Given the description of an element on the screen output the (x, y) to click on. 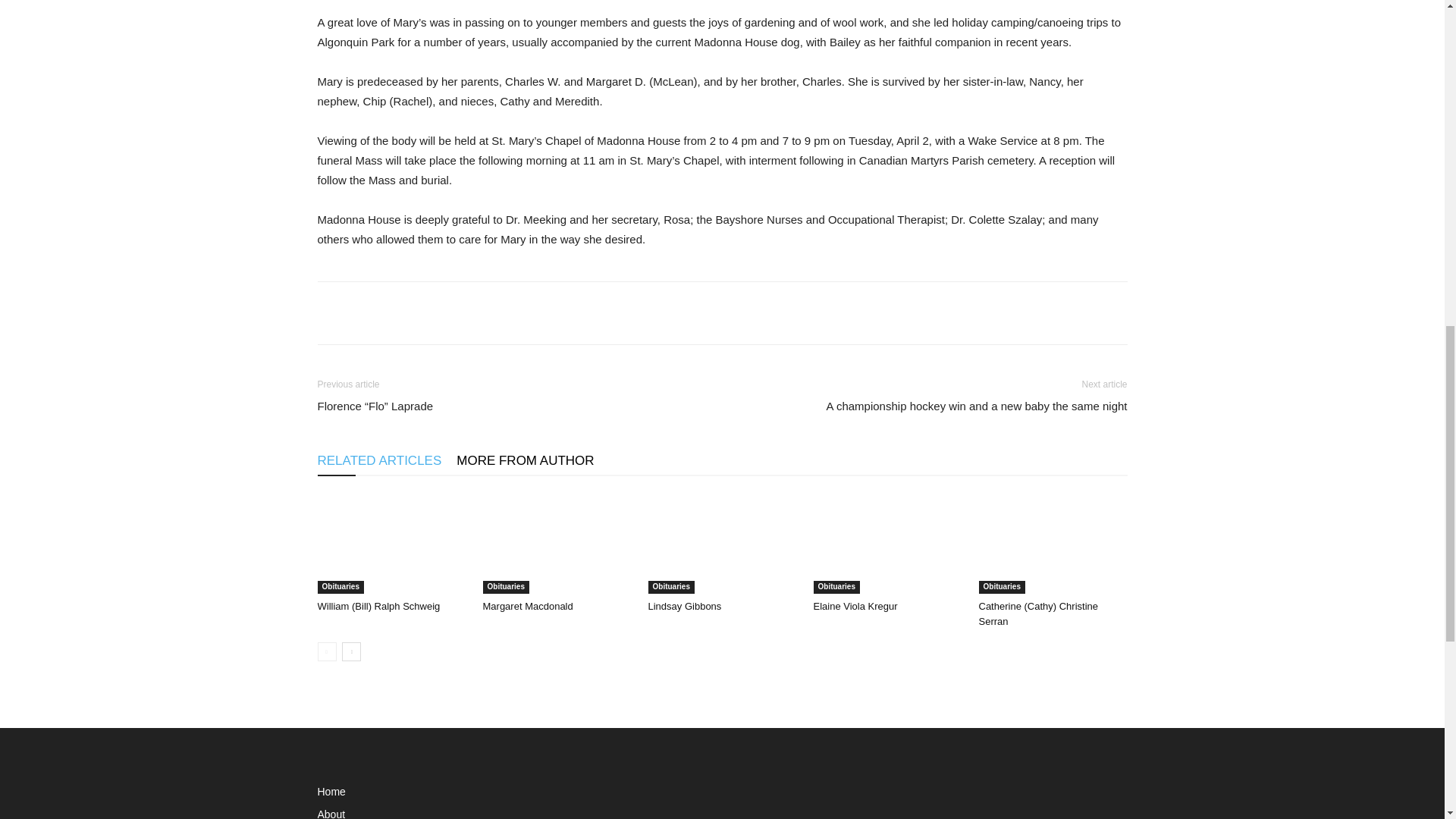
Margaret Macdonald (555, 542)
